Given the description of an element on the screen output the (x, y) to click on. 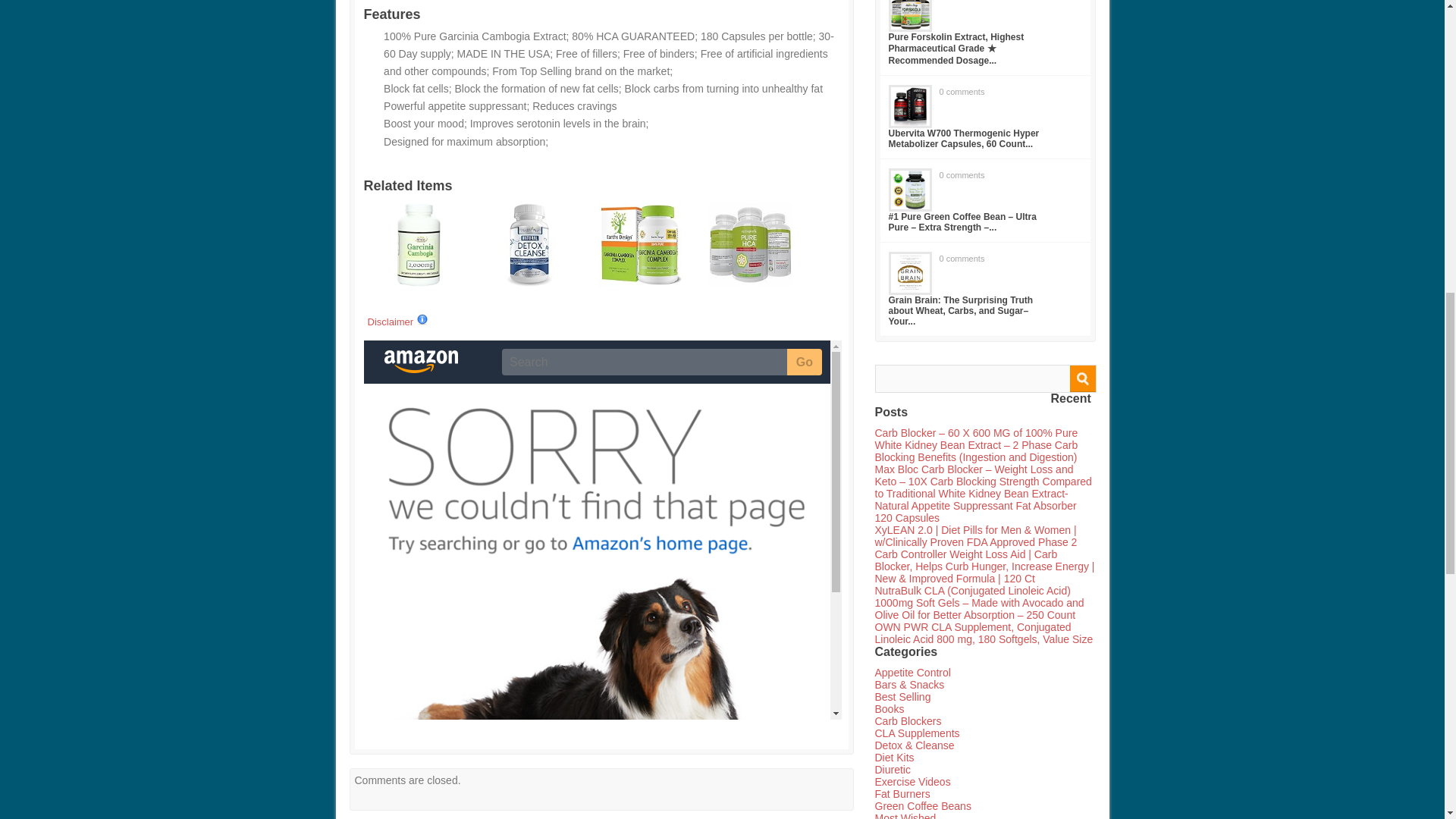
Disclaimer (397, 321)
Search (1081, 378)
